Given the description of an element on the screen output the (x, y) to click on. 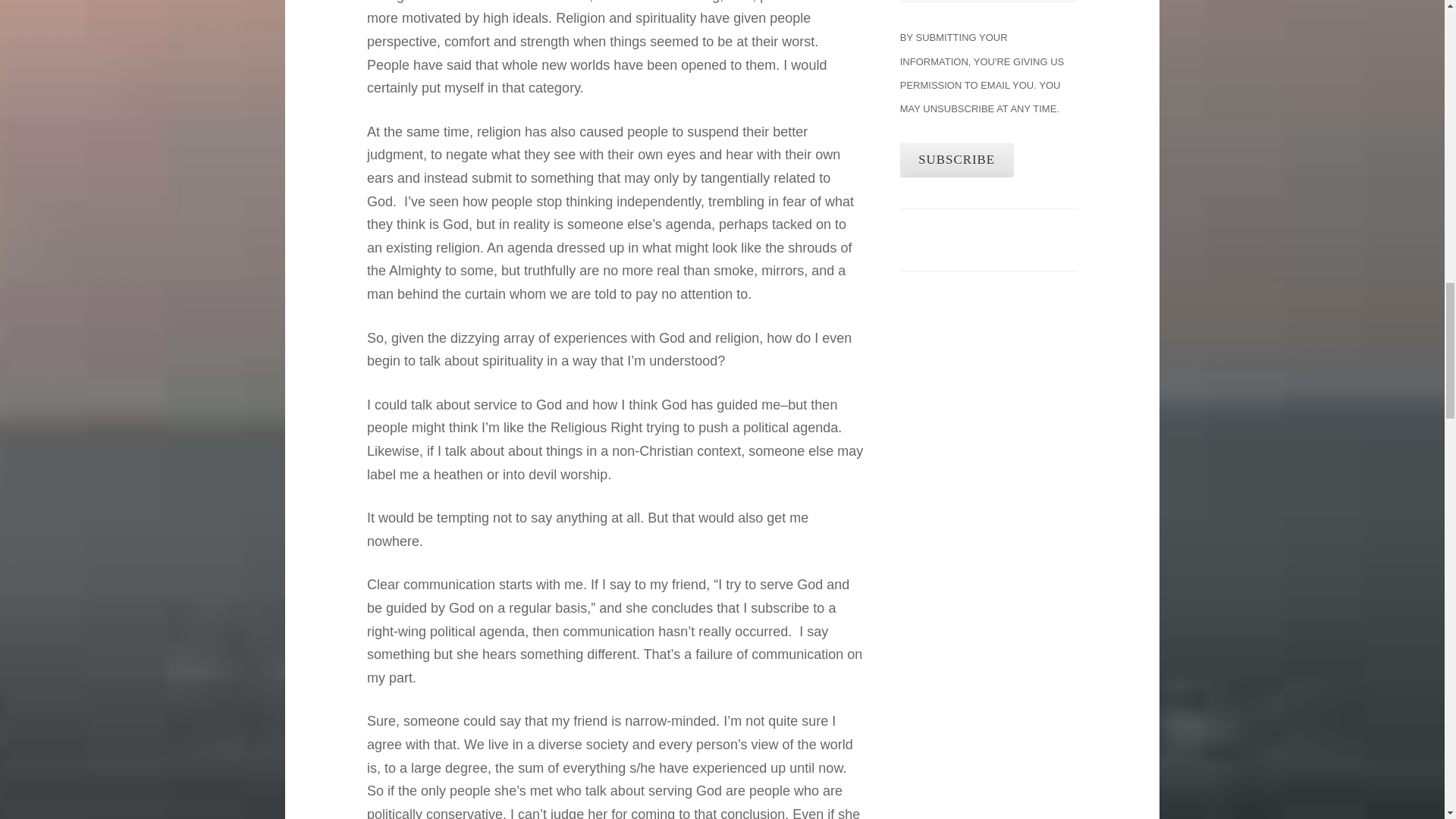
SUBSCRIBE (956, 160)
